Given the description of an element on the screen output the (x, y) to click on. 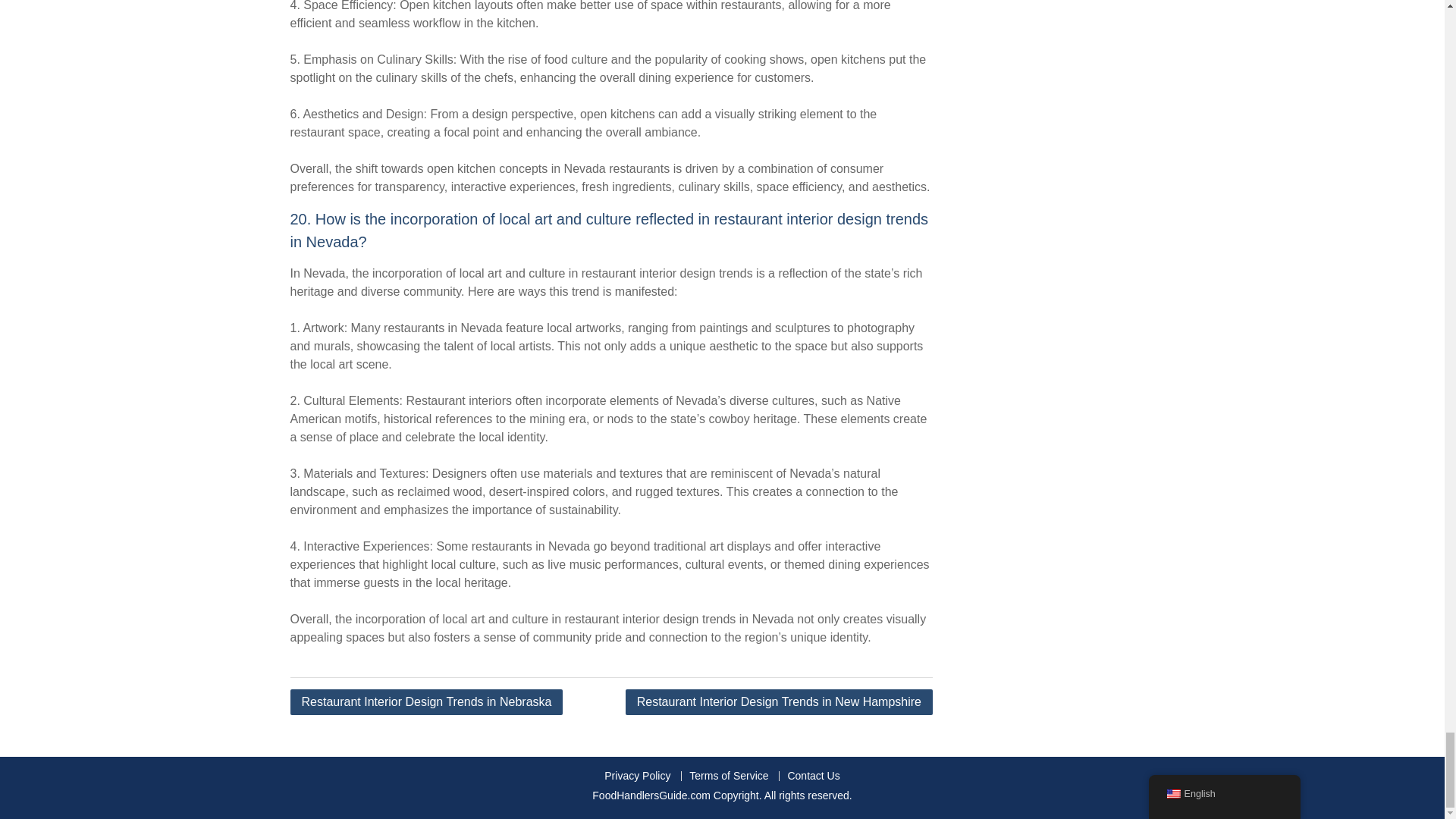
Restaurant Interior Design Trends in New Hampshire (779, 701)
Restaurant Interior Design Trends in Nebraska (425, 701)
